Given the description of an element on the screen output the (x, y) to click on. 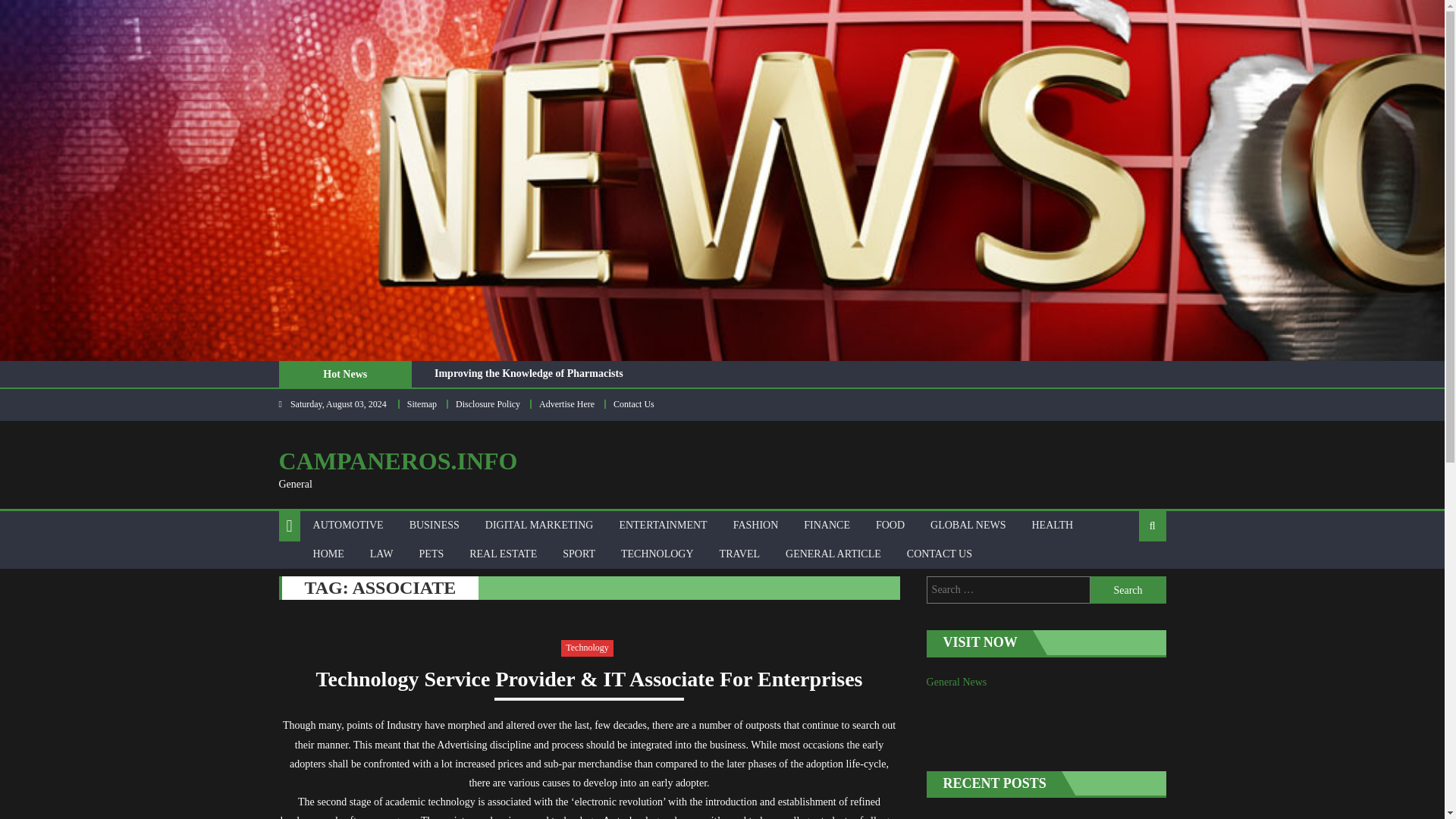
CAMPANEROS.INFO (398, 461)
Search (1128, 589)
CONTACT US (939, 553)
GENERAL ARTICLE (833, 553)
TECHNOLOGY (657, 553)
TRAVEL (739, 553)
Advertise Here (566, 403)
FOOD (889, 525)
HOME (328, 553)
FINANCE (826, 525)
